Given the description of an element on the screen output the (x, y) to click on. 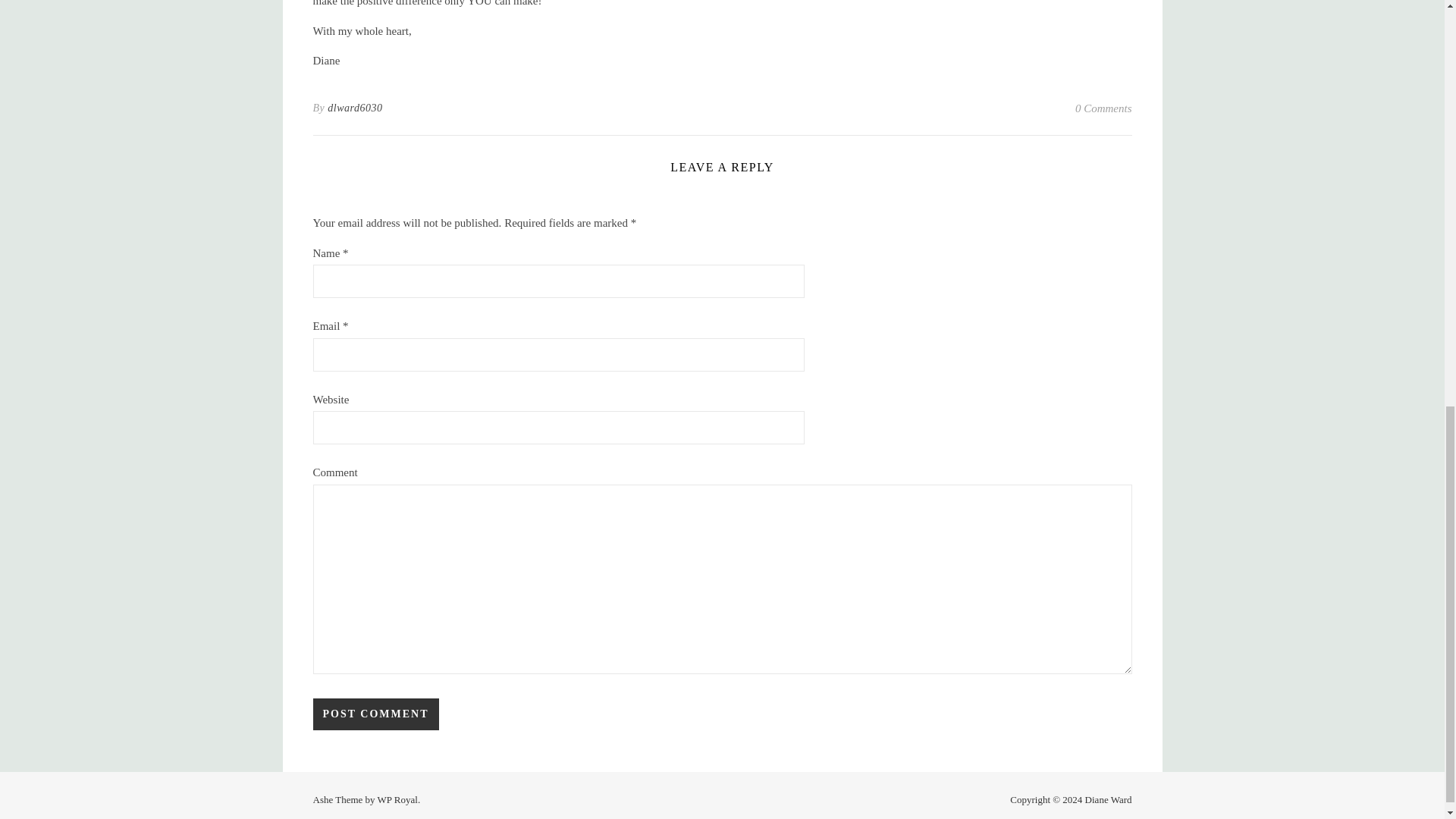
Posts by dlward6030 (354, 108)
0 Comments (1103, 108)
Post Comment (375, 714)
Post Comment (375, 714)
WP Royal (397, 799)
dlward6030 (354, 108)
